Given the description of an element on the screen output the (x, y) to click on. 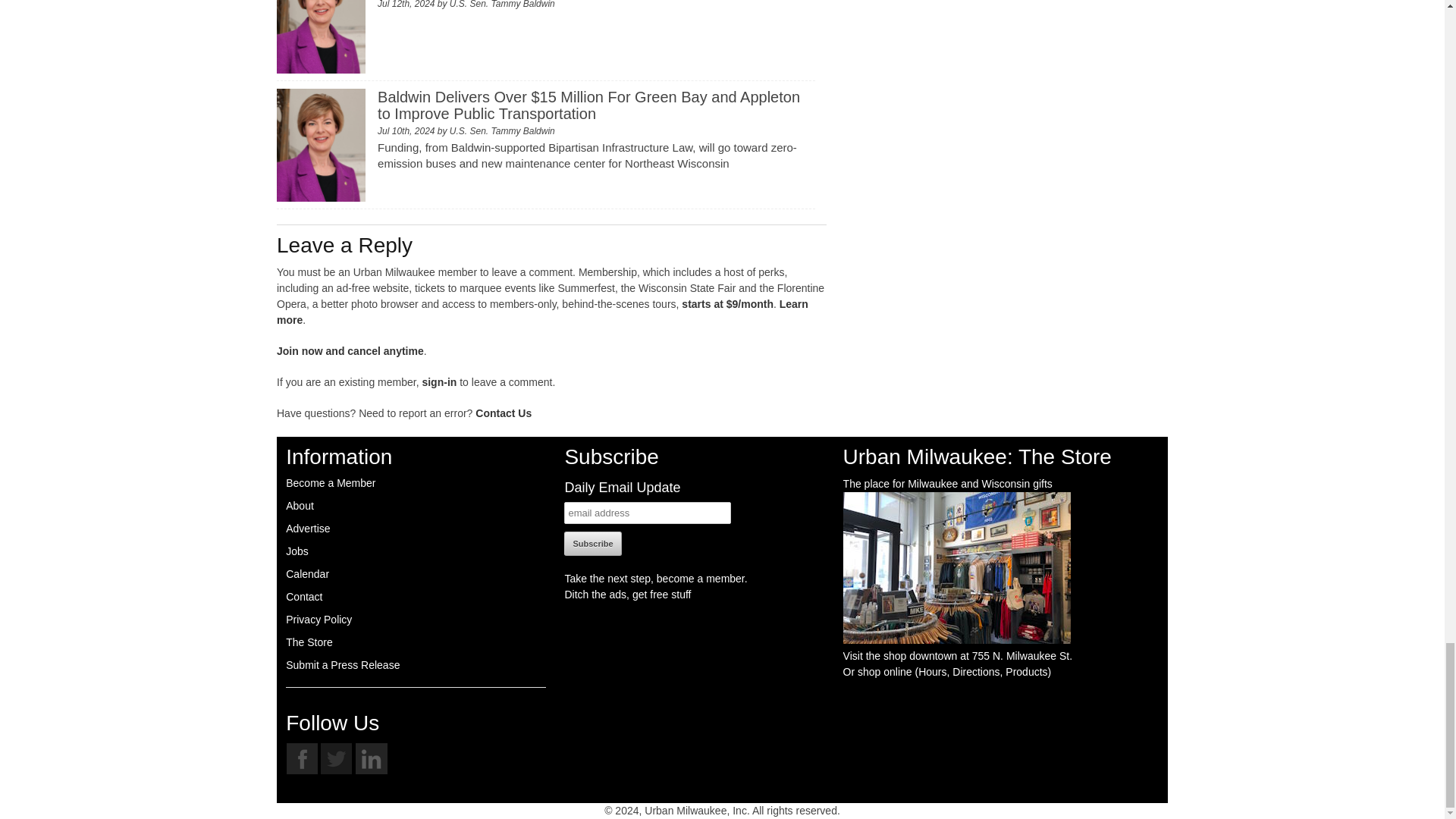
Posts by U.S. Sen. Tammy Baldwin (501, 131)
Posts by U.S. Sen. Tammy Baldwin (501, 4)
Subscribe (592, 543)
